Given the description of an element on the screen output the (x, y) to click on. 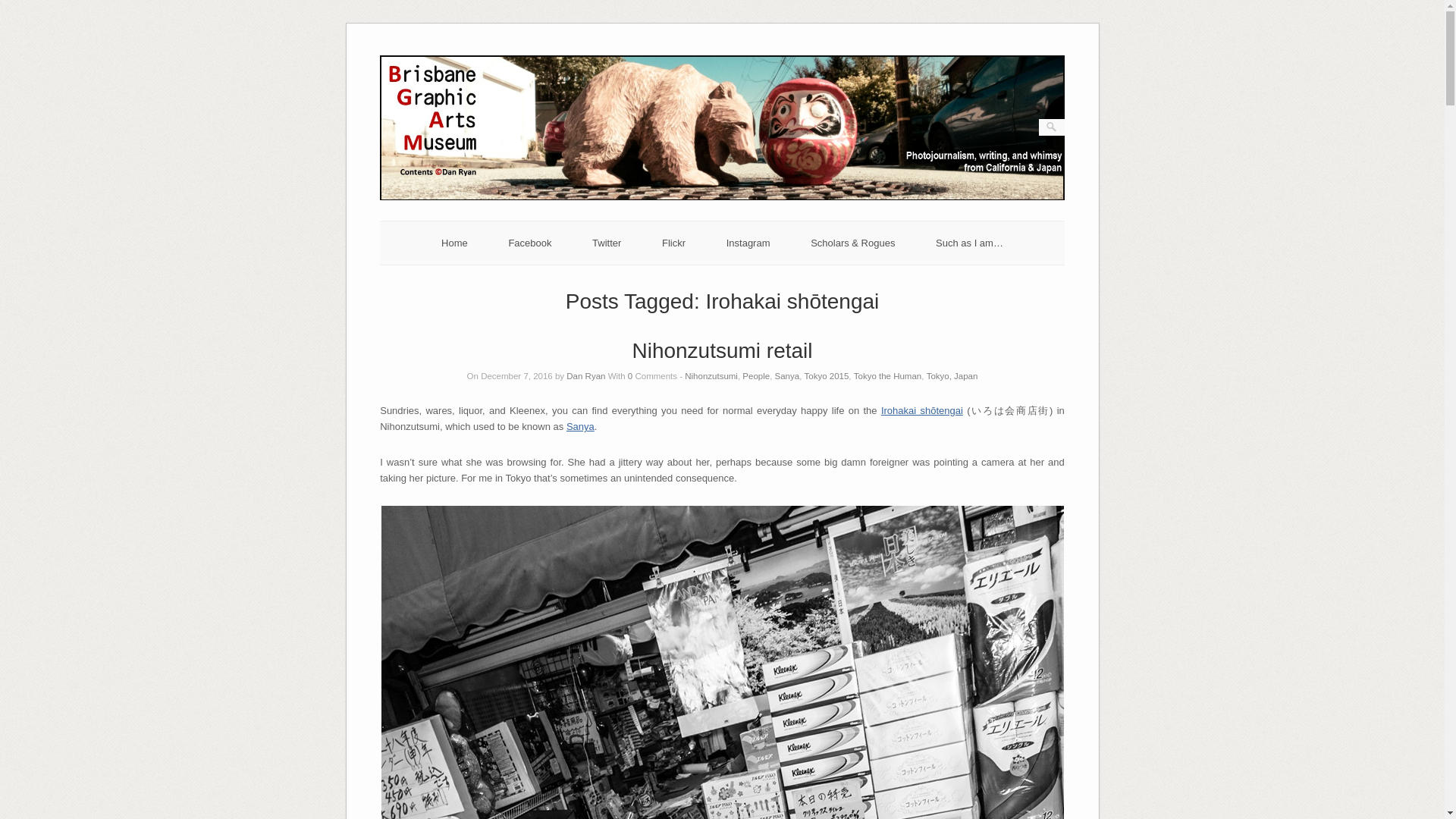
Sanya (580, 426)
Home (454, 242)
Instagram (748, 242)
Flickr (673, 242)
People (756, 375)
Nihonzutsumi (711, 375)
Nihonzutsumi retail (721, 350)
Tokyo 2015 (826, 375)
Dan Ryan (585, 375)
